Given the description of an element on the screen output the (x, y) to click on. 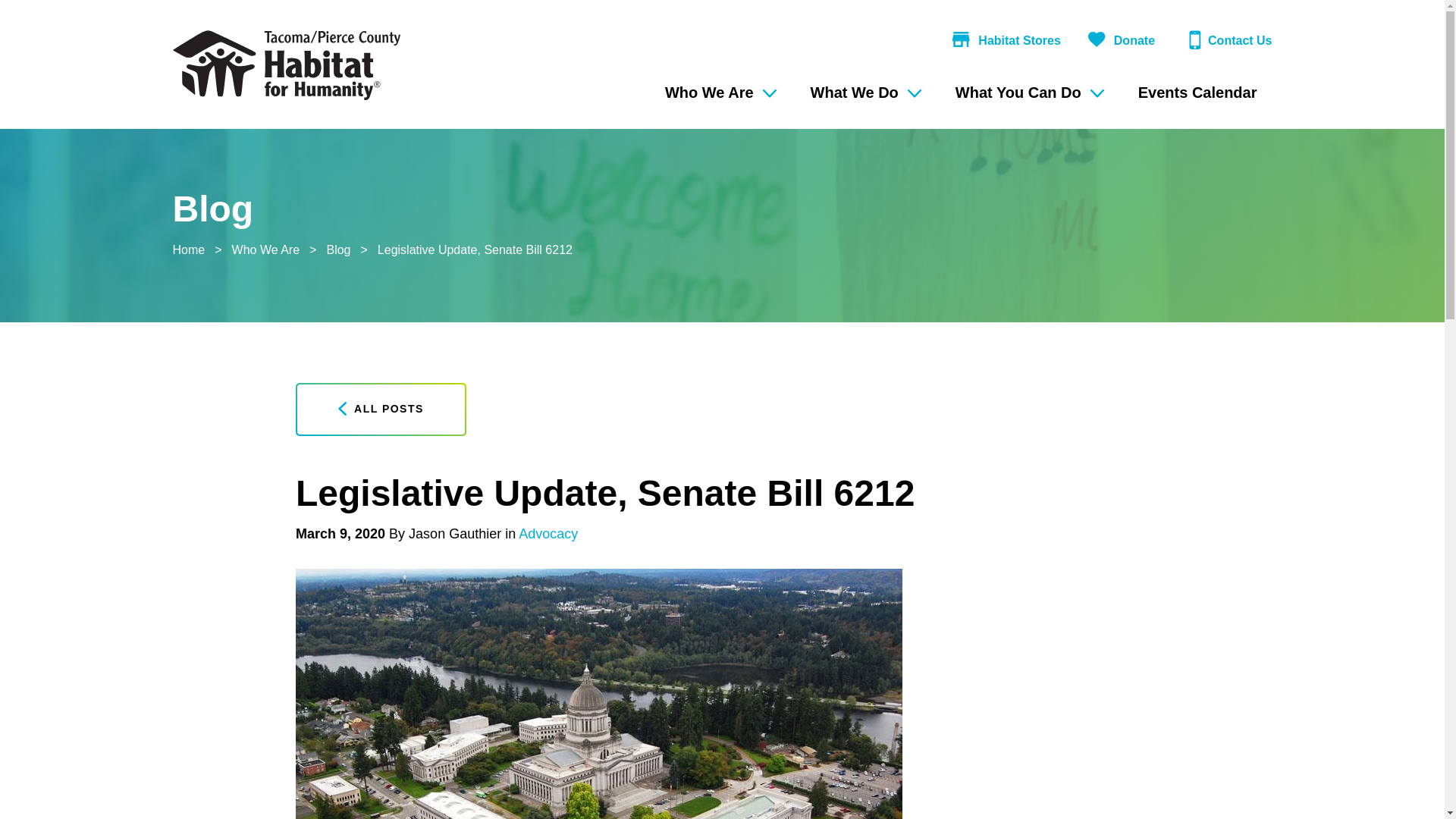
What You Can Do (1027, 92)
Who We Are (718, 92)
What We Do (863, 92)
Donate (1118, 46)
Habitat Stores (1003, 46)
Contact Us (1224, 46)
